Given the description of an element on the screen output the (x, y) to click on. 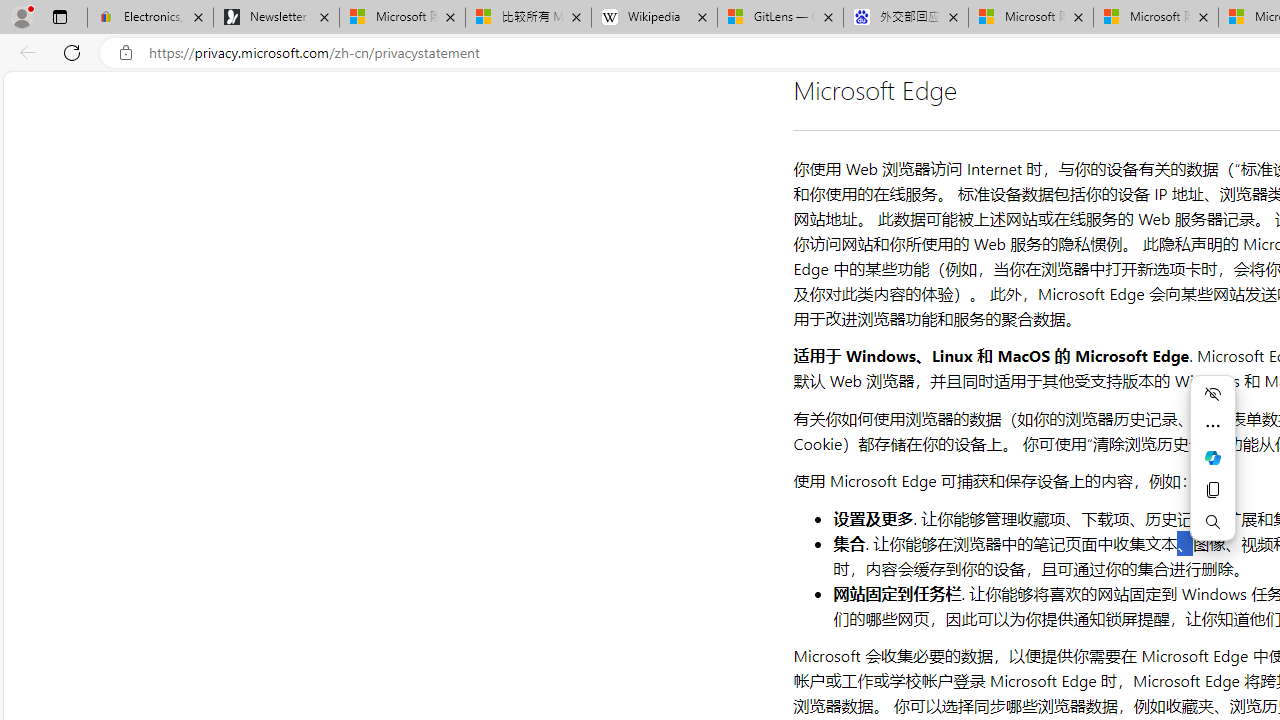
More actions (1212, 425)
Newsletter Sign Up (276, 17)
Mini menu on text selection (1213, 470)
